Given the description of an element on the screen output the (x, y) to click on. 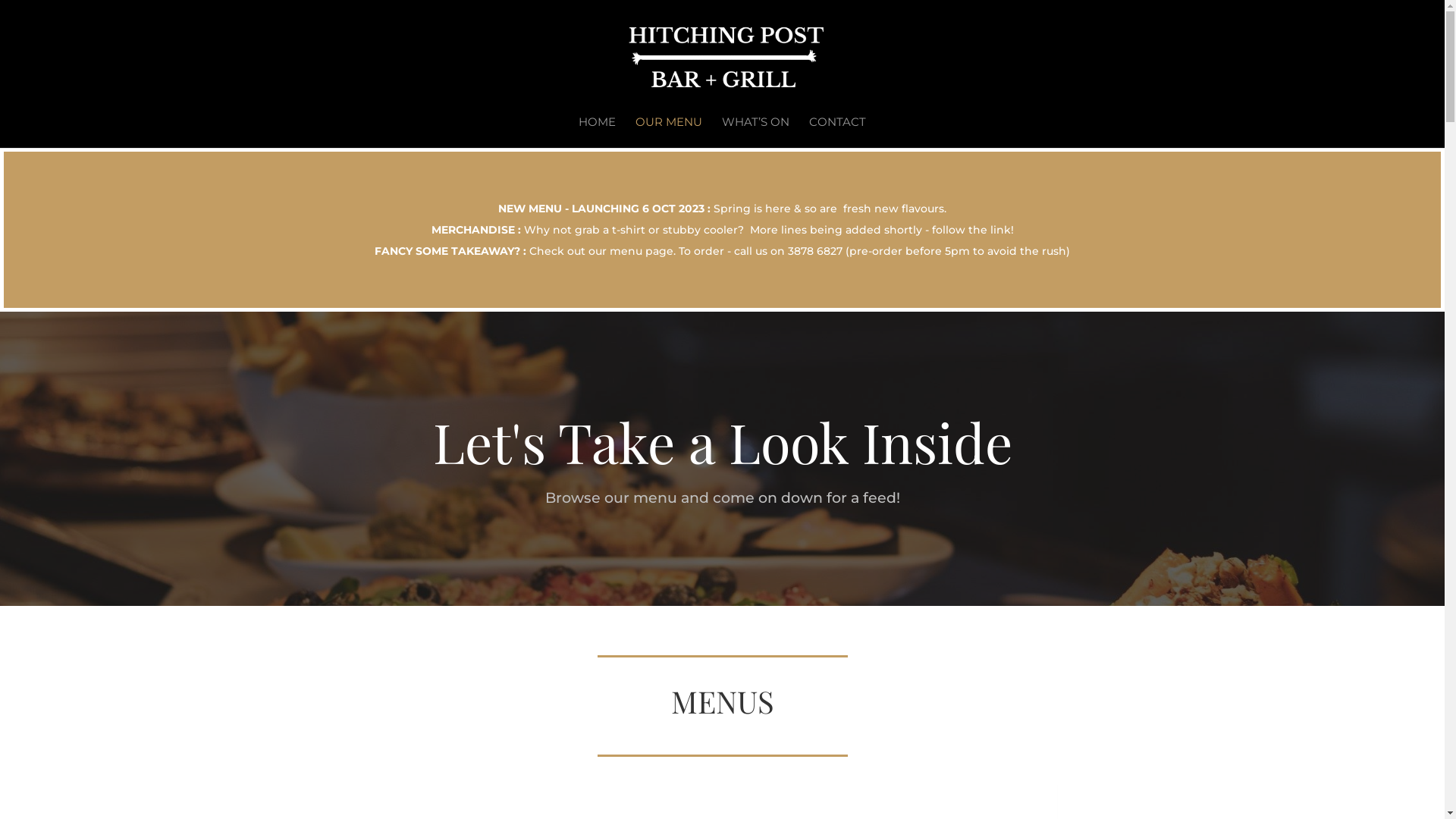
HOME Element type: text (596, 131)
OUR MENU Element type: text (668, 131)
CONTACT Element type: text (837, 131)
